Given the description of an element on the screen output the (x, y) to click on. 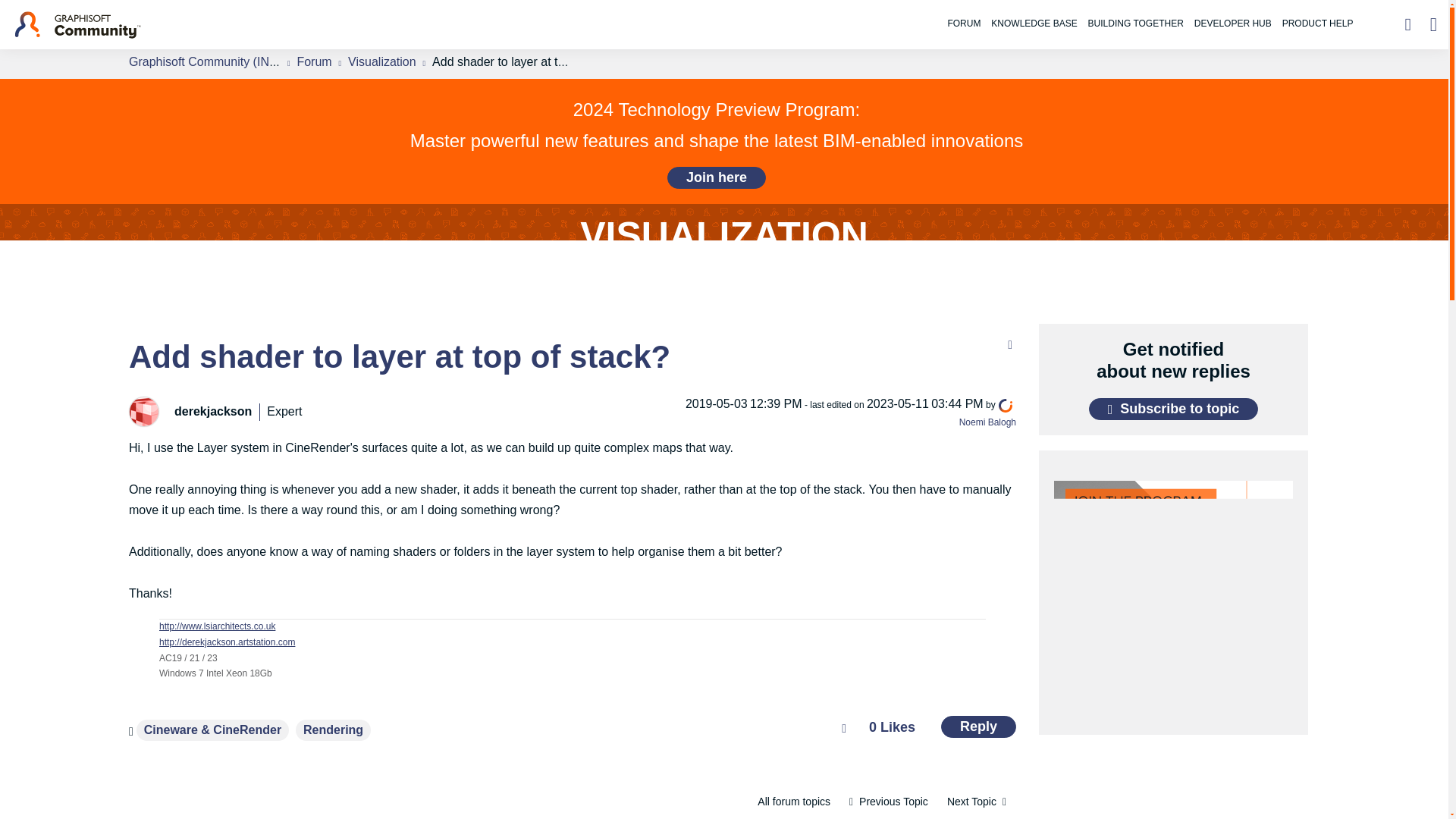
FORUM (963, 16)
BUILDING TOGETHER (1136, 16)
KNOWLEDGE BASE (1033, 16)
